Given the description of an element on the screen output the (x, y) to click on. 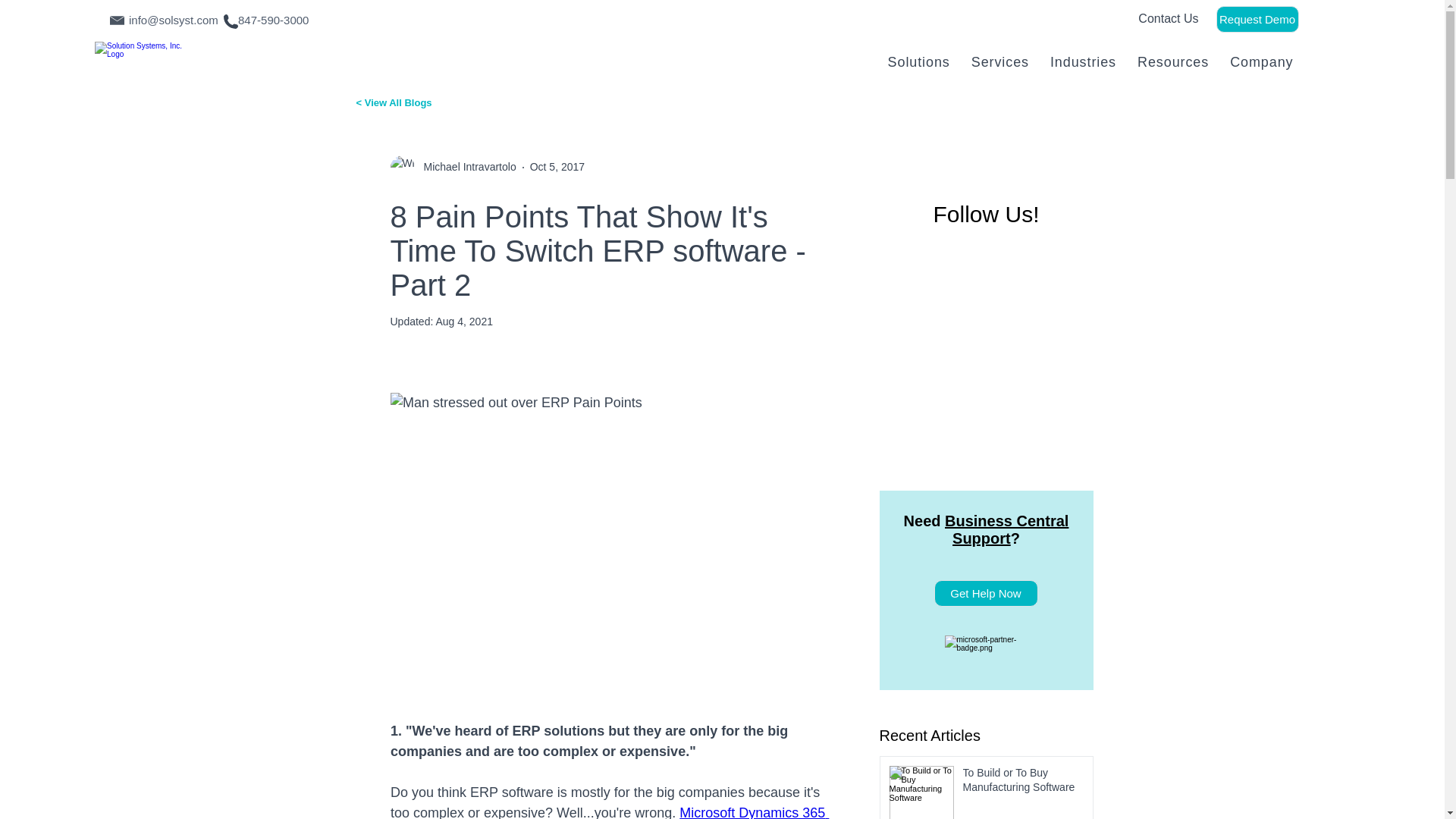
Services (999, 62)
Michael Intravartolo (464, 166)
Industries (1083, 62)
Oct 5, 2017 (557, 166)
847-590-3000 (273, 19)
Solutions (919, 62)
Request Demo (1256, 18)
Contact Us (1168, 18)
Aug 4, 2021 (1076, 62)
